Given the description of an element on the screen output the (x, y) to click on. 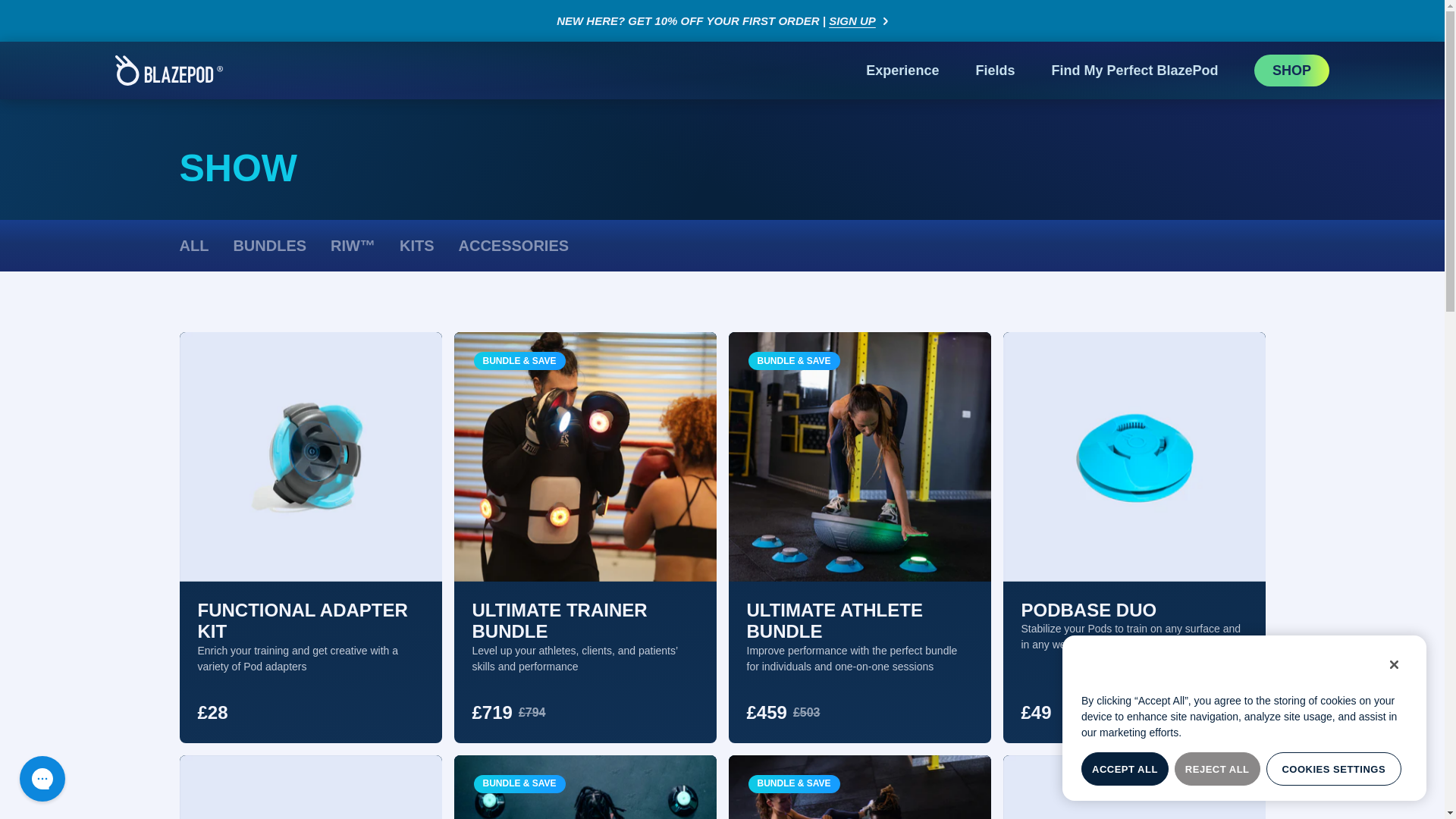
Fields (994, 69)
Ultimate Athlete Bundle (859, 456)
PodBase Duo (1134, 456)
Single pod (310, 787)
ACCESSORIES (513, 246)
SHOP (1291, 70)
Ultimate Trainer Bundle (584, 456)
KITS (415, 246)
BUNDLES (268, 246)
Experience (902, 69)
Ultimate Team Bundle (859, 787)
ALL (193, 246)
Find My Perfect BlazePod (1134, 69)
Functional Adapter Kit (310, 456)
